Given the description of an element on the screen output the (x, y) to click on. 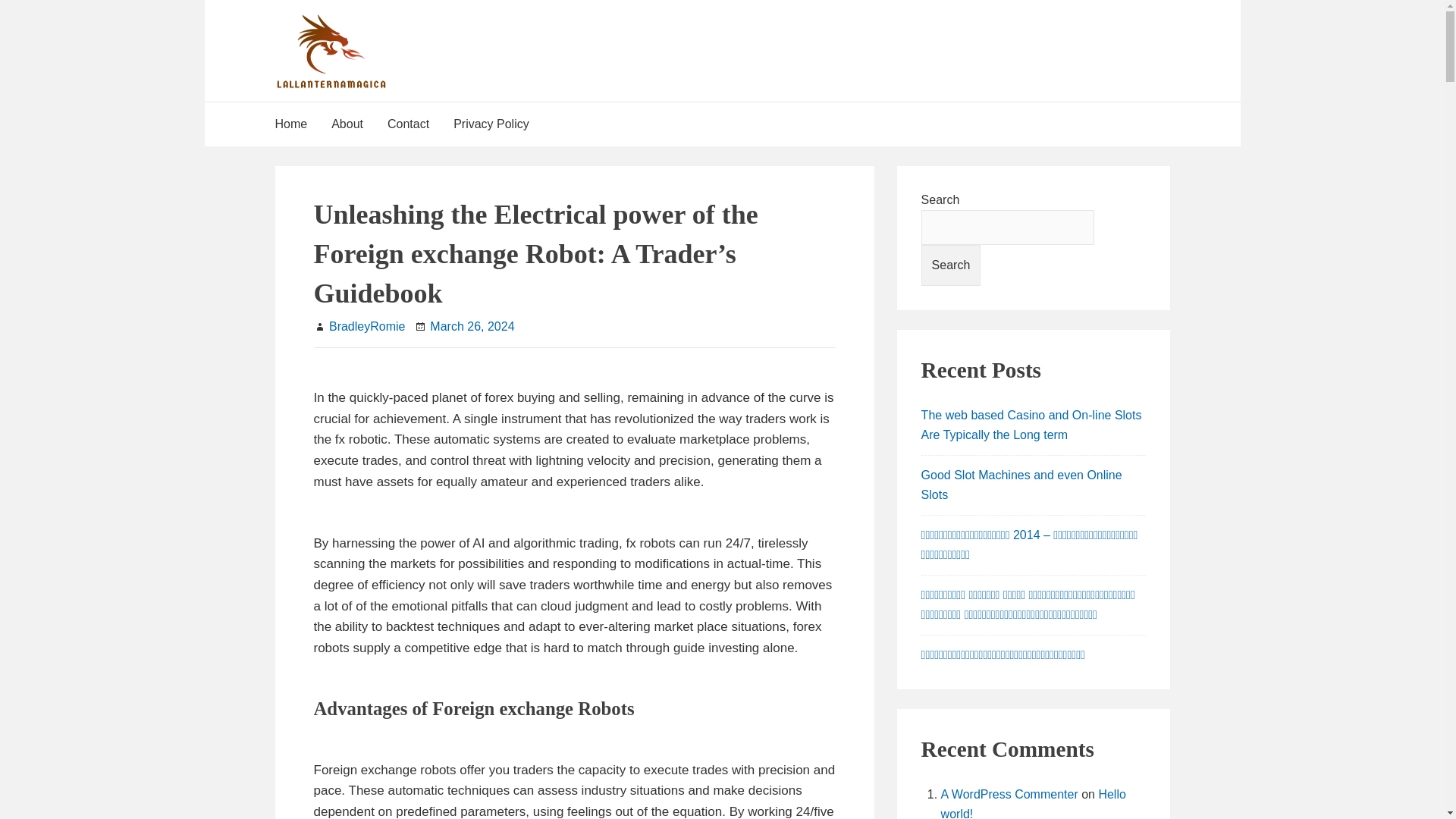
About (346, 124)
A WordPress Commenter (1009, 793)
Good Slot Machines and even Online Slots (1021, 484)
Privacy Policy (491, 124)
Contact (408, 124)
Search (951, 264)
Hello world! (1032, 803)
Home (296, 124)
BradleyRomie (366, 326)
March 26, 2024 (471, 326)
